Given the description of an element on the screen output the (x, y) to click on. 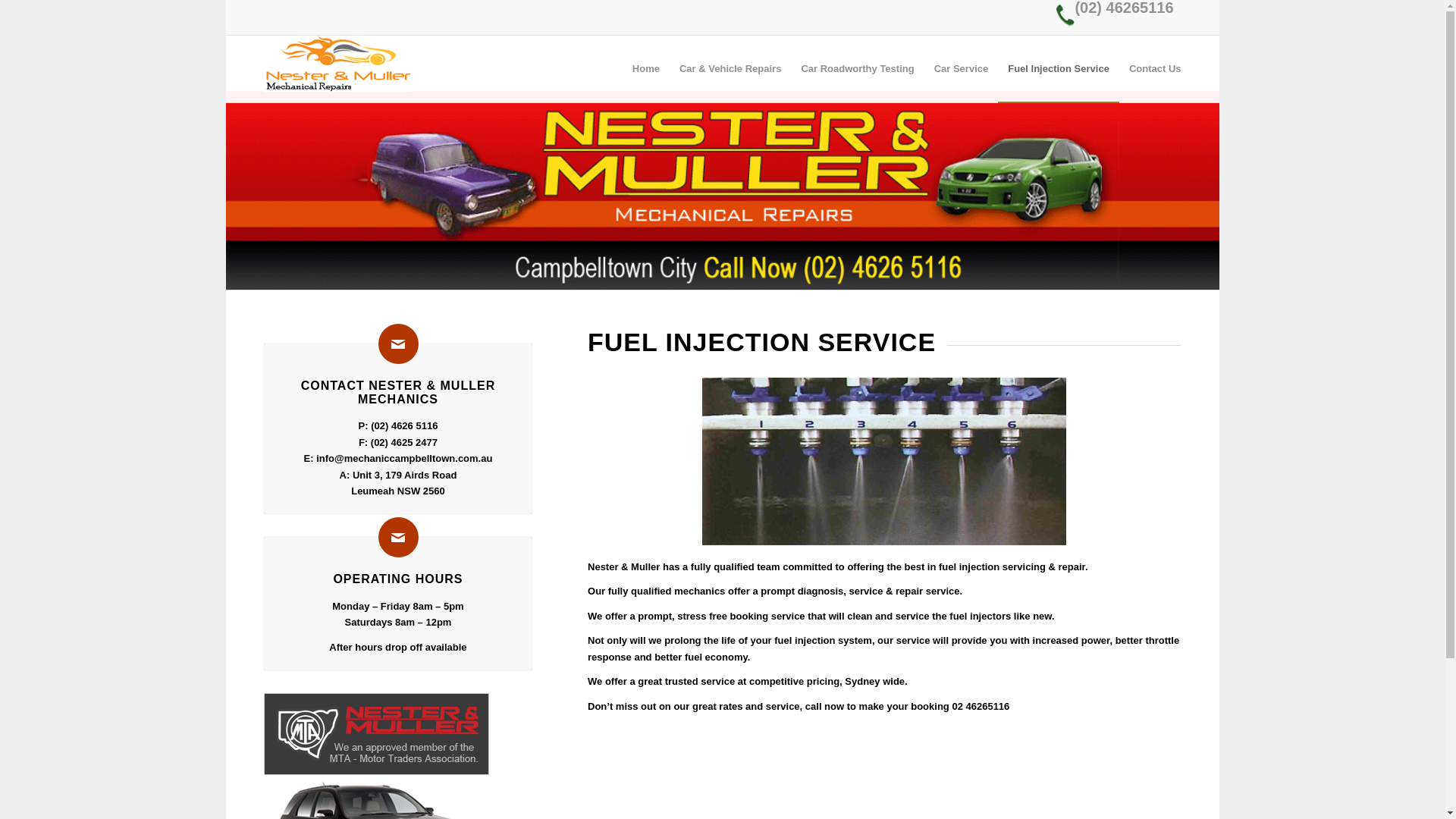
Contact Us Element type: text (1150, 68)
Car Roadworthy Testing Element type: text (856, 68)
Fuel Injection Service Element type: text (1058, 68)
Home Element type: text (645, 68)
Car Service Element type: text (961, 68)
Car & Vehicle Repairs Element type: text (729, 68)
